Given the description of an element on the screen output the (x, y) to click on. 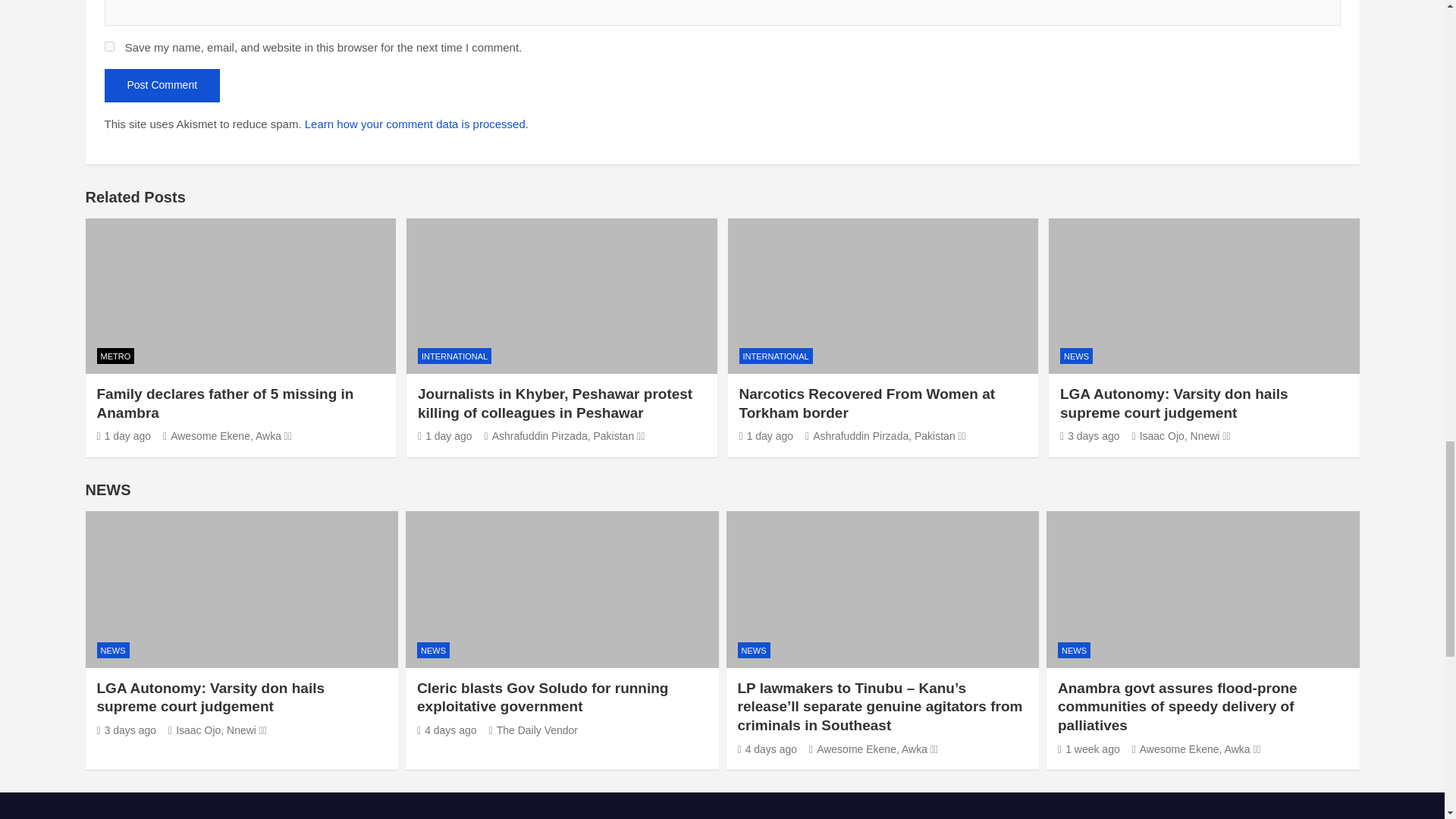
yes (109, 46)
Post Comment (162, 85)
LGA Autonomy: Varsity don hails supreme court judgement (1089, 435)
Cleric blasts Gov Soludo for running exploitative government (446, 729)
Family declares father of 5 missing in Anambra (124, 435)
LGA Autonomy: Varsity don hails supreme court judgement (127, 729)
Narcotics Recovered From Women at Torkham border (765, 435)
